Given the description of an element on the screen output the (x, y) to click on. 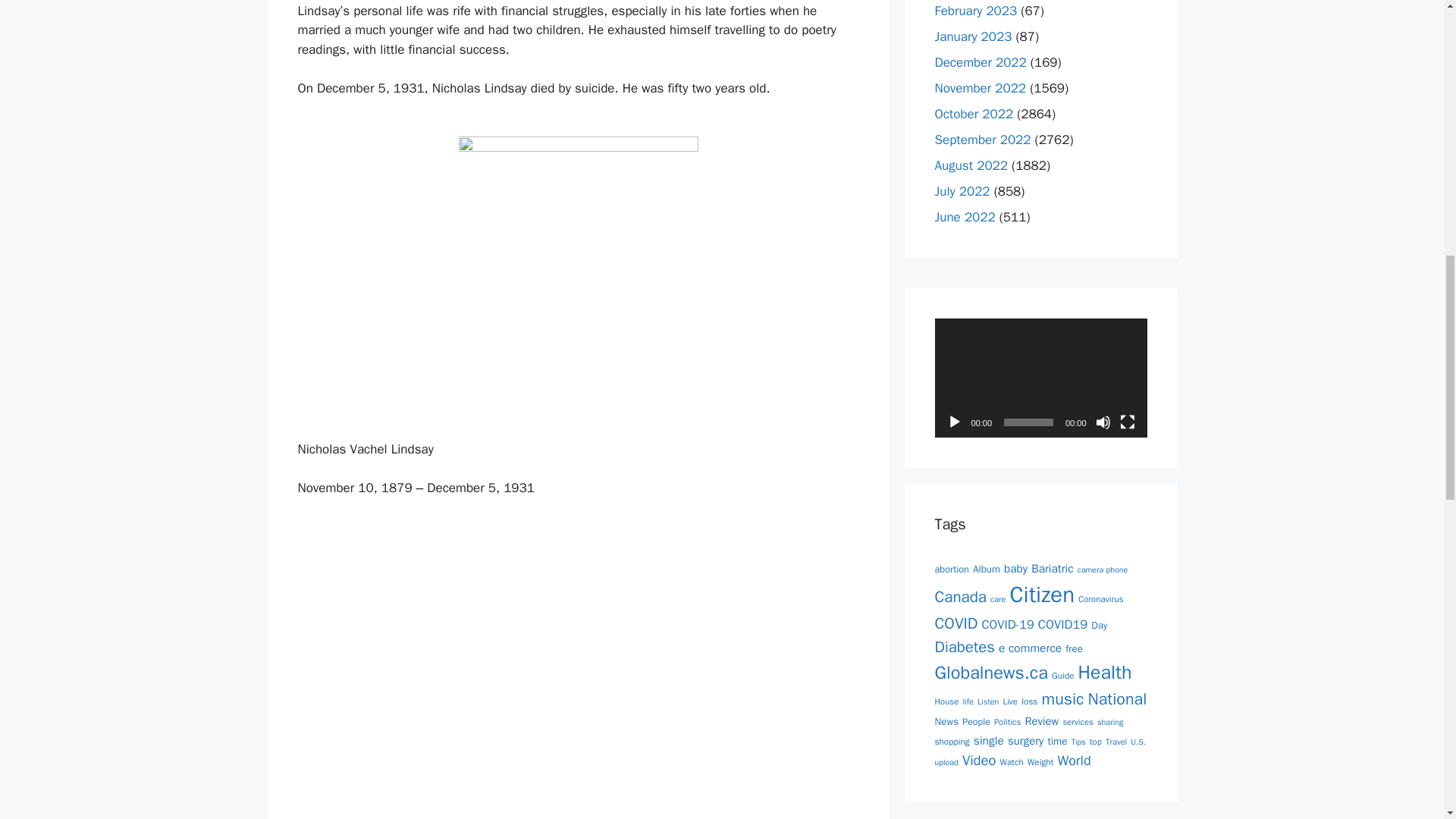
February 2023 (975, 10)
Fullscreen (1126, 421)
Play (953, 421)
October 2022 (973, 114)
November 2022 (980, 88)
Mute (1101, 421)
January 2023 (972, 36)
December 2022 (980, 62)
